Given the description of an element on the screen output the (x, y) to click on. 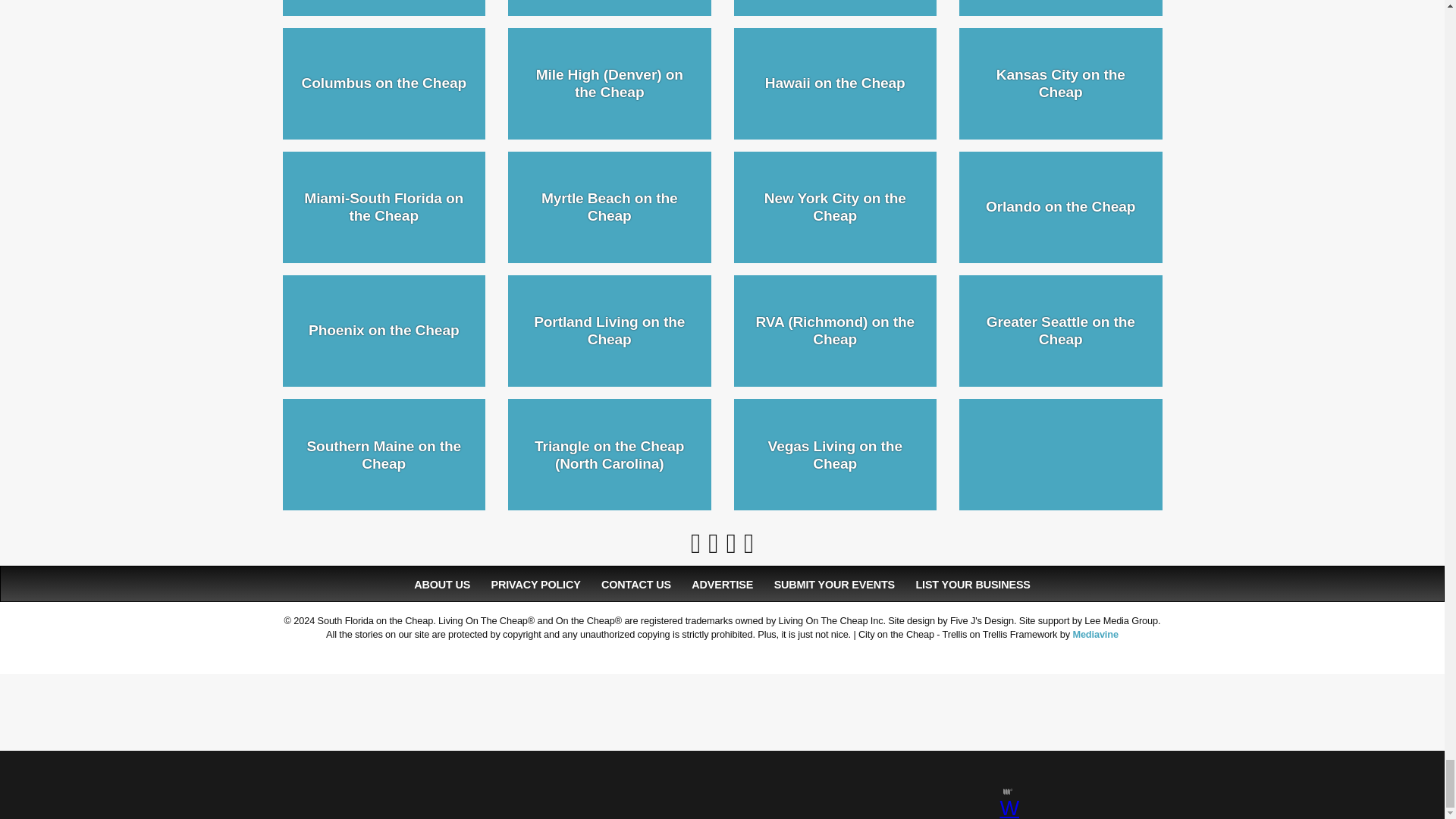
Columbus on the Cheap (383, 83)
Charlotte on the Cheap (835, 7)
Hawaii on the Cheap (835, 83)
Atlanta on the Cheap (609, 7)
Chicago on the Cheap (1060, 7)
Living on the Cheap (383, 7)
